Given the description of an element on the screen output the (x, y) to click on. 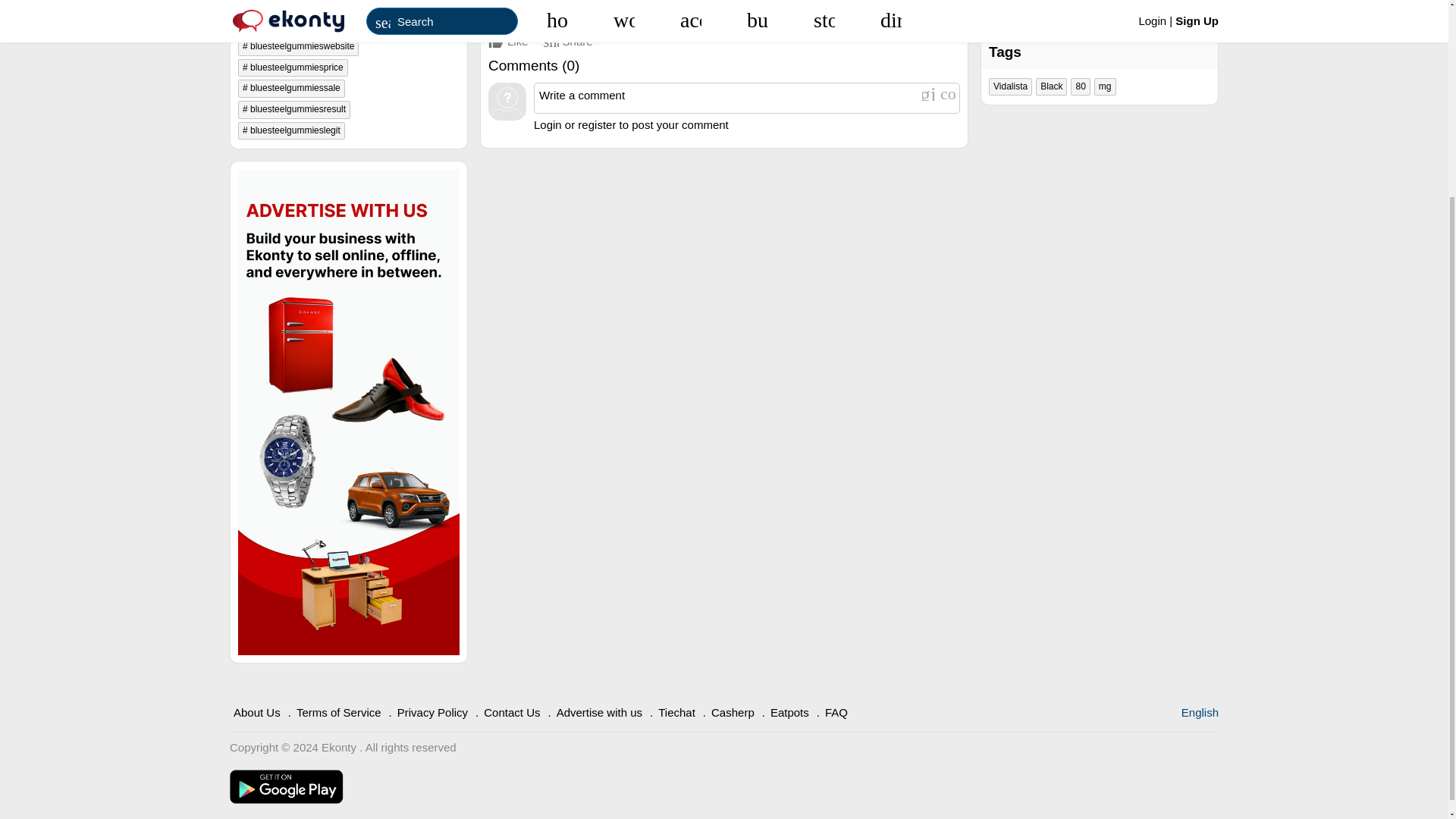
Black (1051, 85)
80 (1079, 85)
Vidalista (1010, 85)
Sticker (947, 92)
Language (1199, 712)
